Given the description of an element on the screen output the (x, y) to click on. 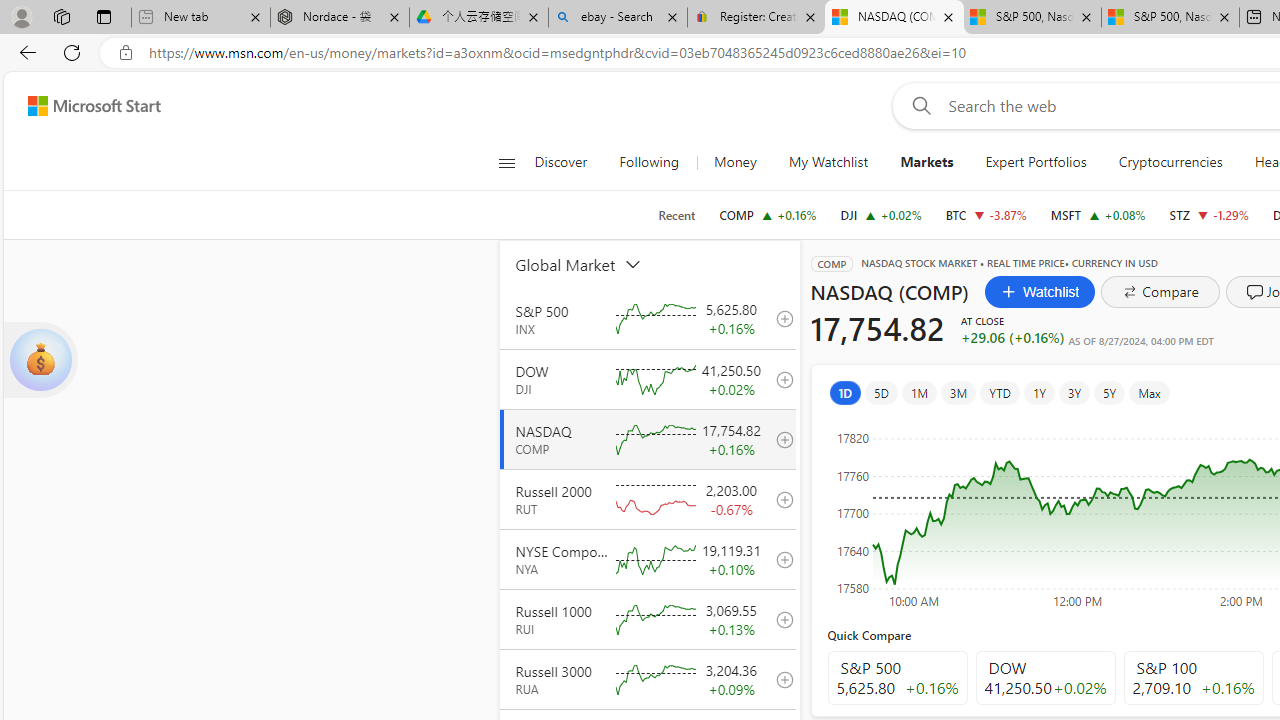
Class: button-glyph (505, 162)
